Given the description of an element on the screen output the (x, y) to click on. 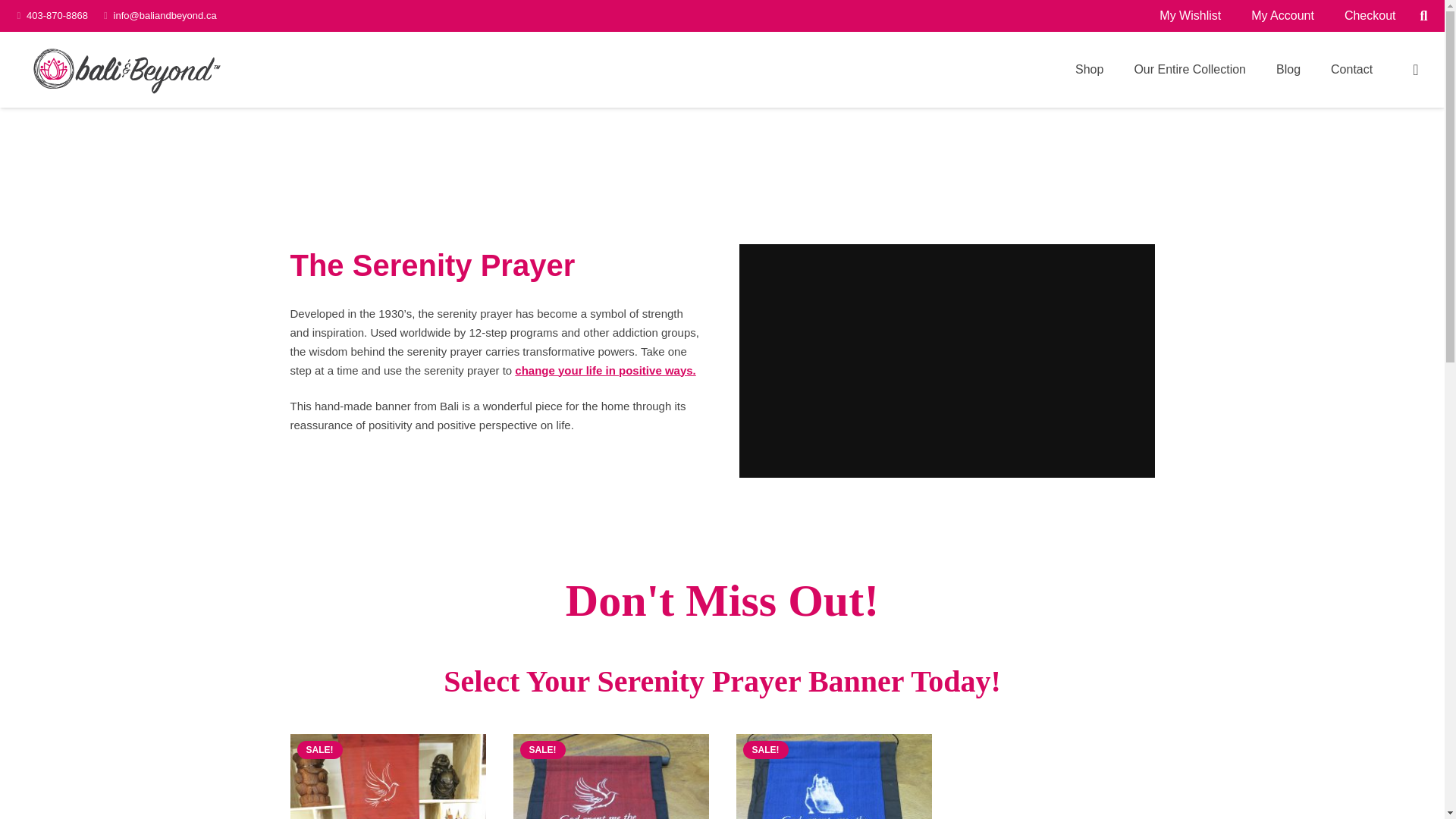
Checkout (1369, 15)
Contact (1351, 69)
403-870-8868 (56, 15)
Our Entire Collection (1189, 69)
Shop (1088, 69)
My Account (1282, 15)
0 (1414, 69)
My Wishlist (1190, 15)
Search (1422, 15)
Blog (1288, 69)
